Given the description of an element on the screen output the (x, y) to click on. 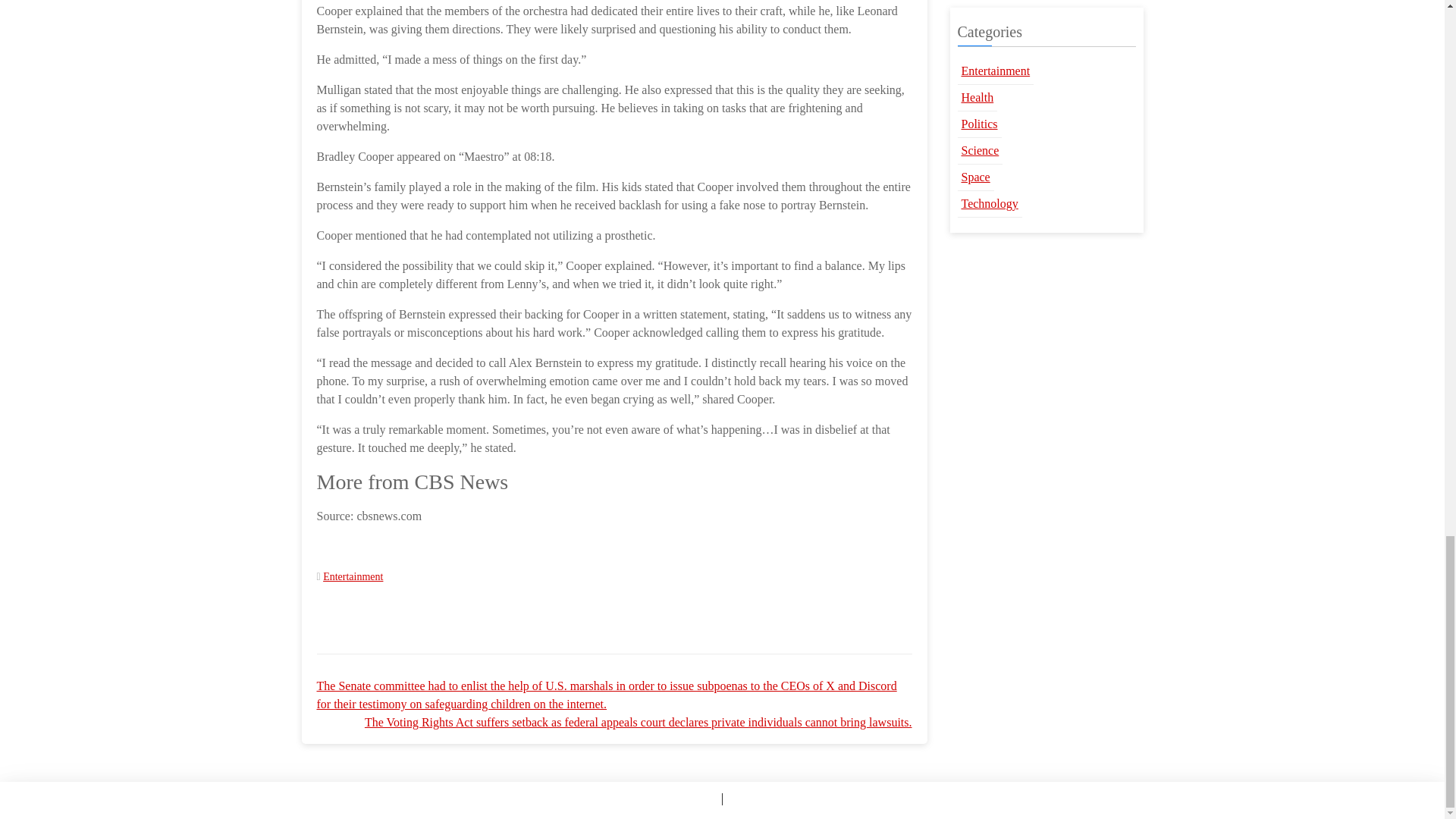
Entertainment (352, 576)
